Given the description of an element on the screen output the (x, y) to click on. 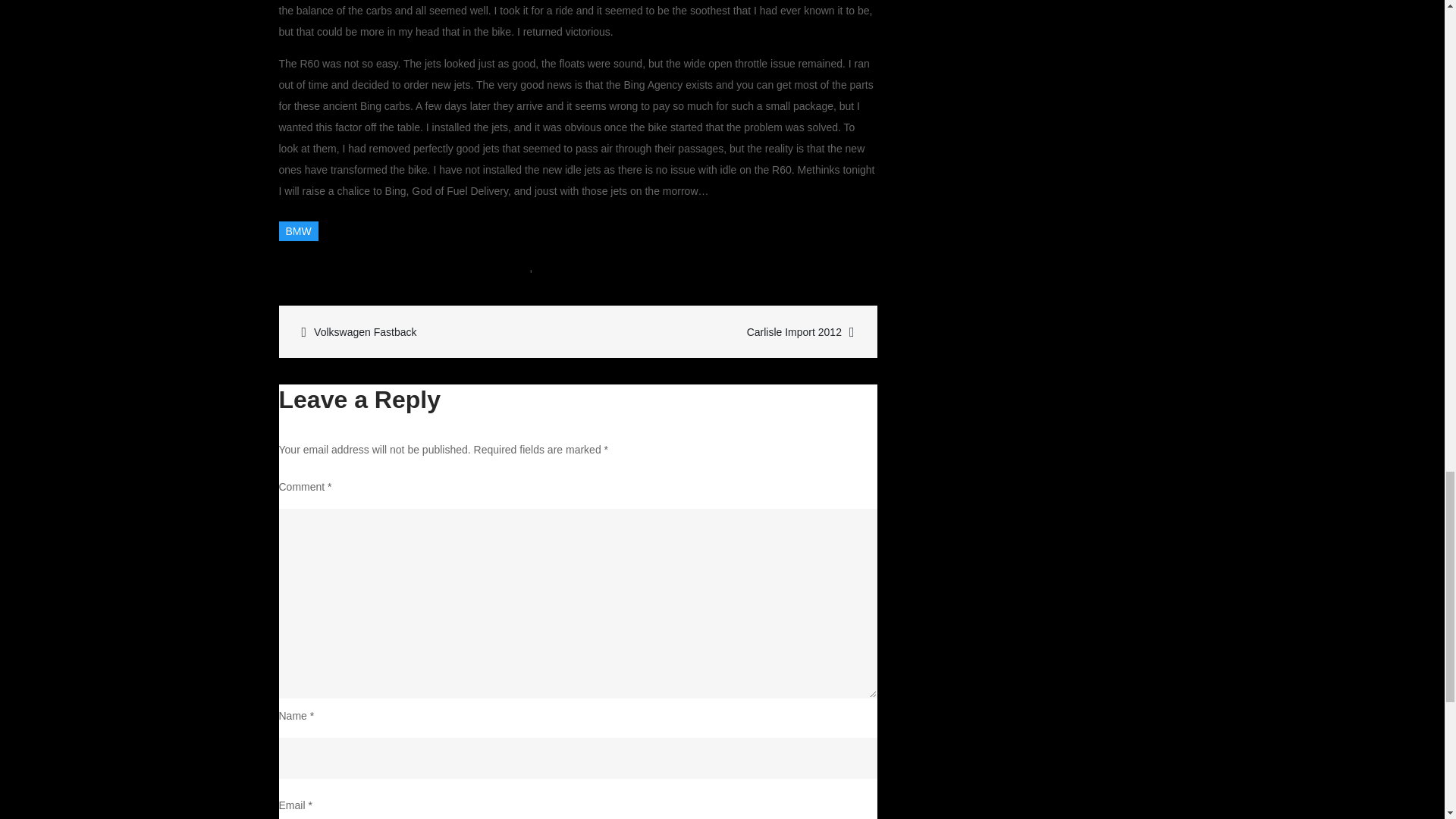
May 14, 2012 (387, 267)
Carlisle Import 2012 (725, 332)
BMW (651, 267)
Volkswagen Fastback (298, 230)
motorcycle (430, 332)
Garage Updates (560, 267)
Team CV (490, 267)
